Given the description of an element on the screen output the (x, y) to click on. 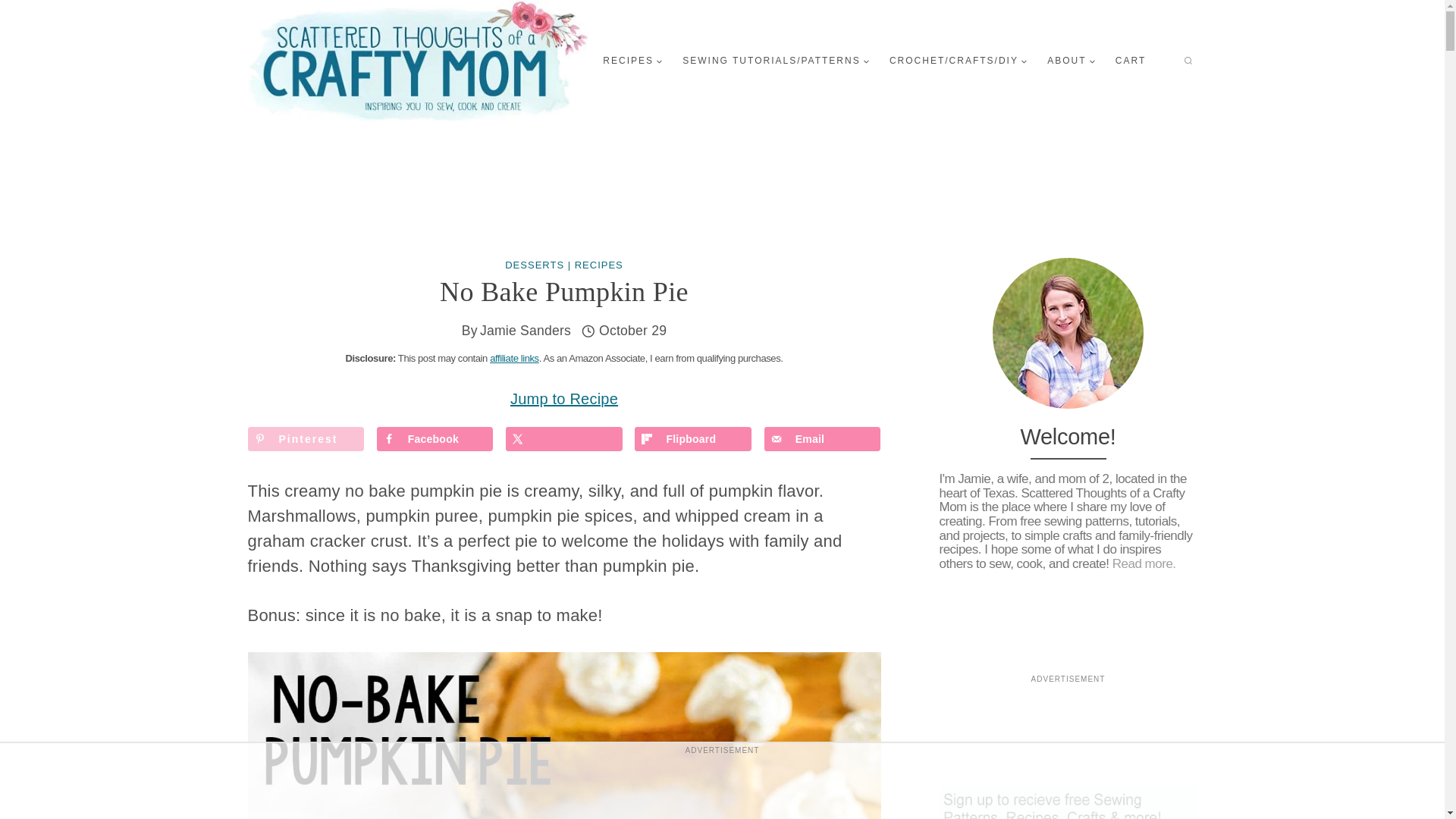
ABOUT (1071, 60)
Save to Pinterest (305, 438)
Share on X (564, 438)
Send over email (822, 438)
Share on Facebook (435, 438)
CART (1130, 60)
RECIPES (631, 60)
Jump to Recipe (564, 398)
Share on Flipboard (692, 438)
